Given the description of an element on the screen output the (x, y) to click on. 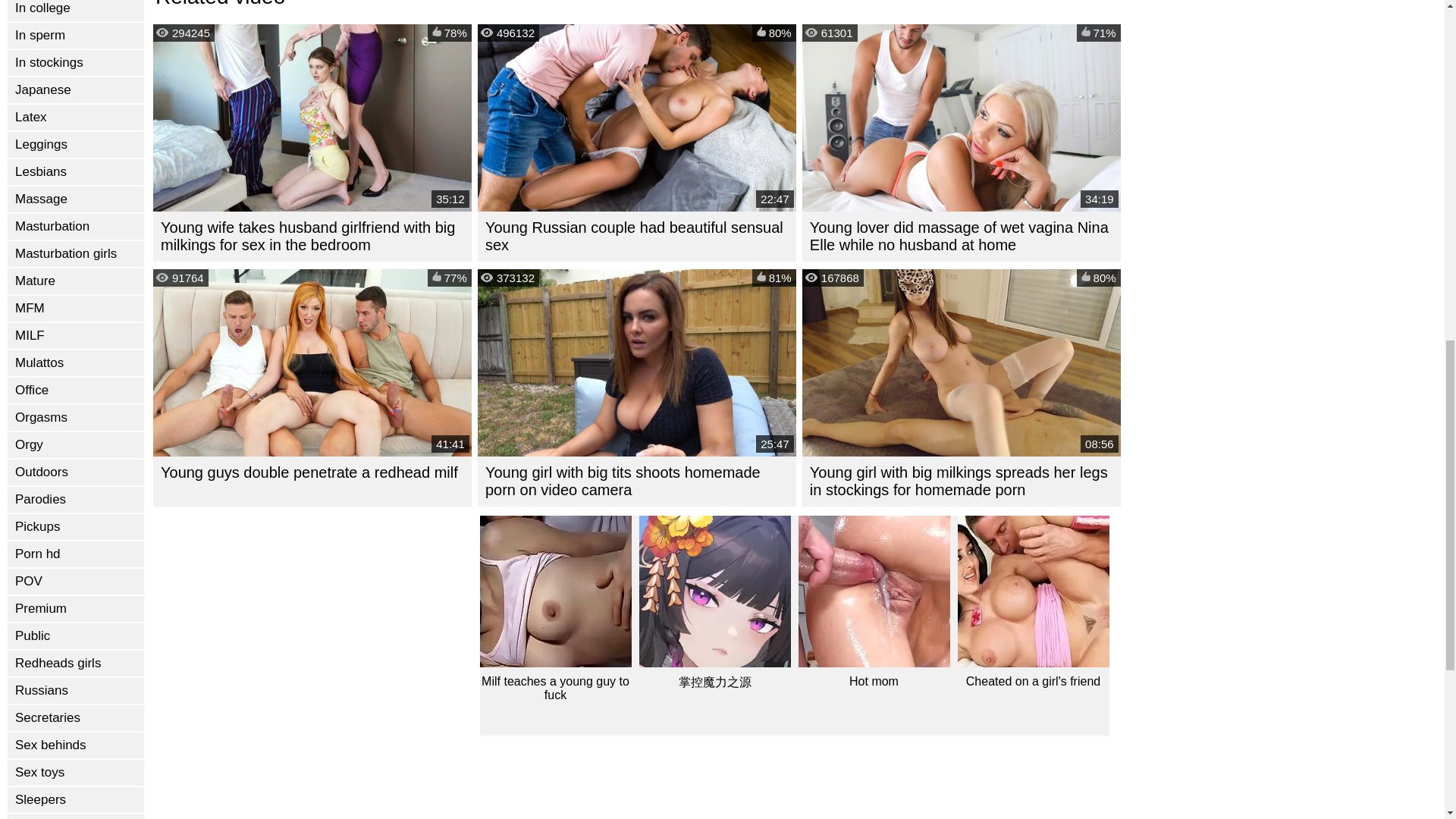
Japanese (75, 89)
In stockings (75, 62)
In sperm (75, 35)
In college (75, 10)
